Given the description of an element on the screen output the (x, y) to click on. 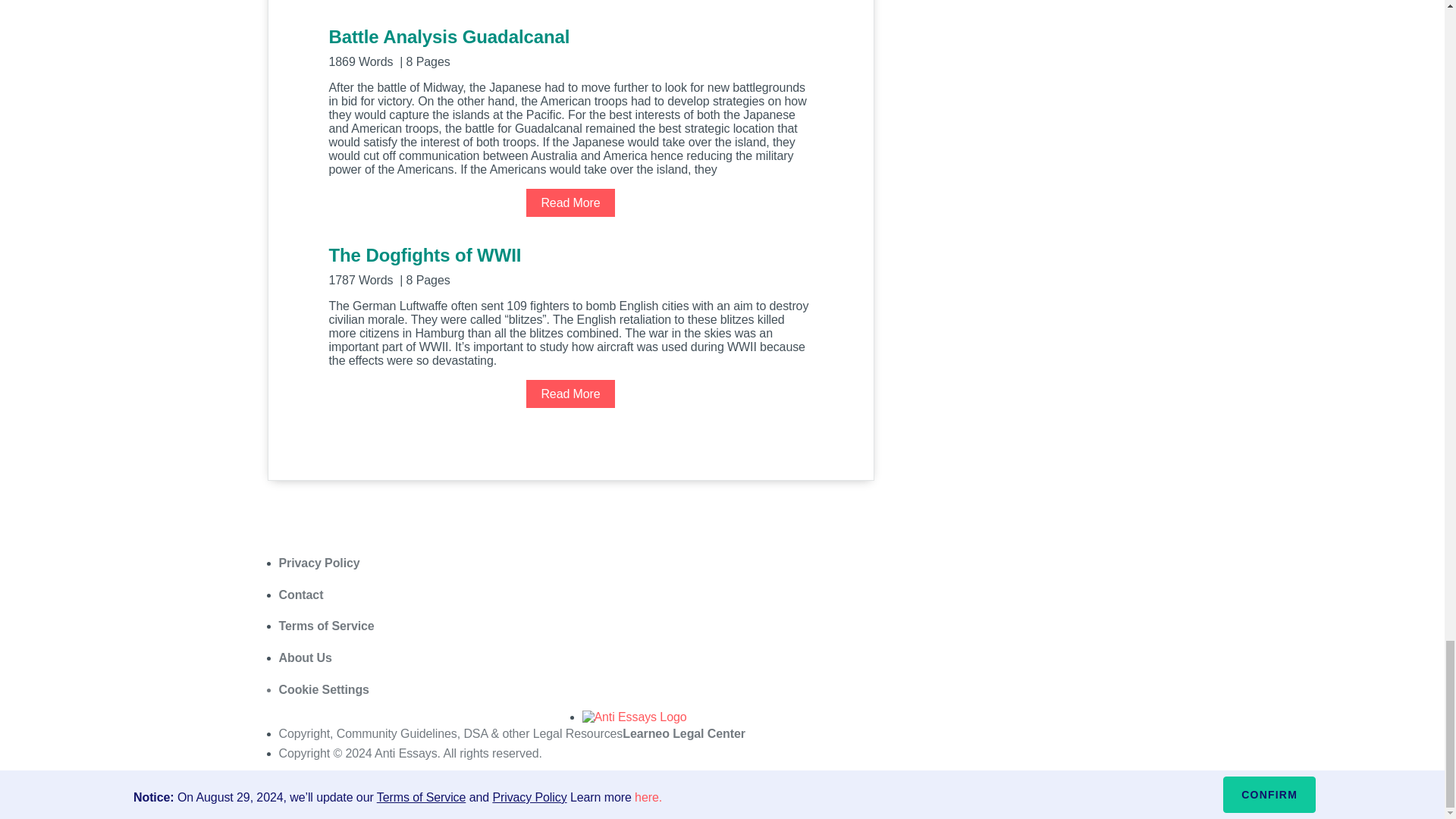
Privacy Policy (319, 562)
The Dogfights of WWII (570, 264)
Battle Analysis Guadalcanal (570, 46)
Read More (569, 393)
Read More (569, 203)
Contact (301, 594)
